Given the description of an element on the screen output the (x, y) to click on. 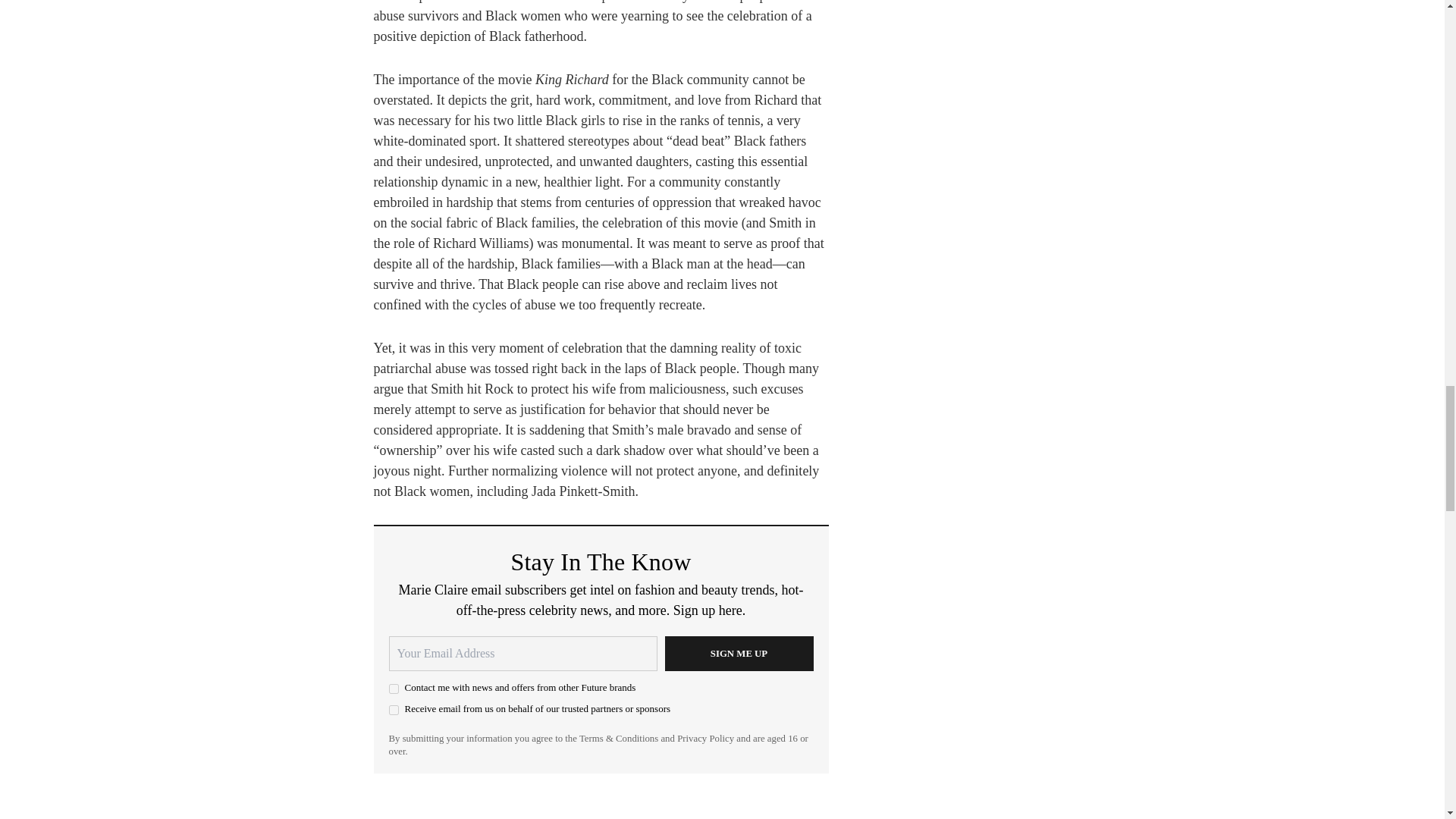
Sign me up (737, 653)
on (392, 709)
on (392, 688)
